Given the description of an element on the screen output the (x, y) to click on. 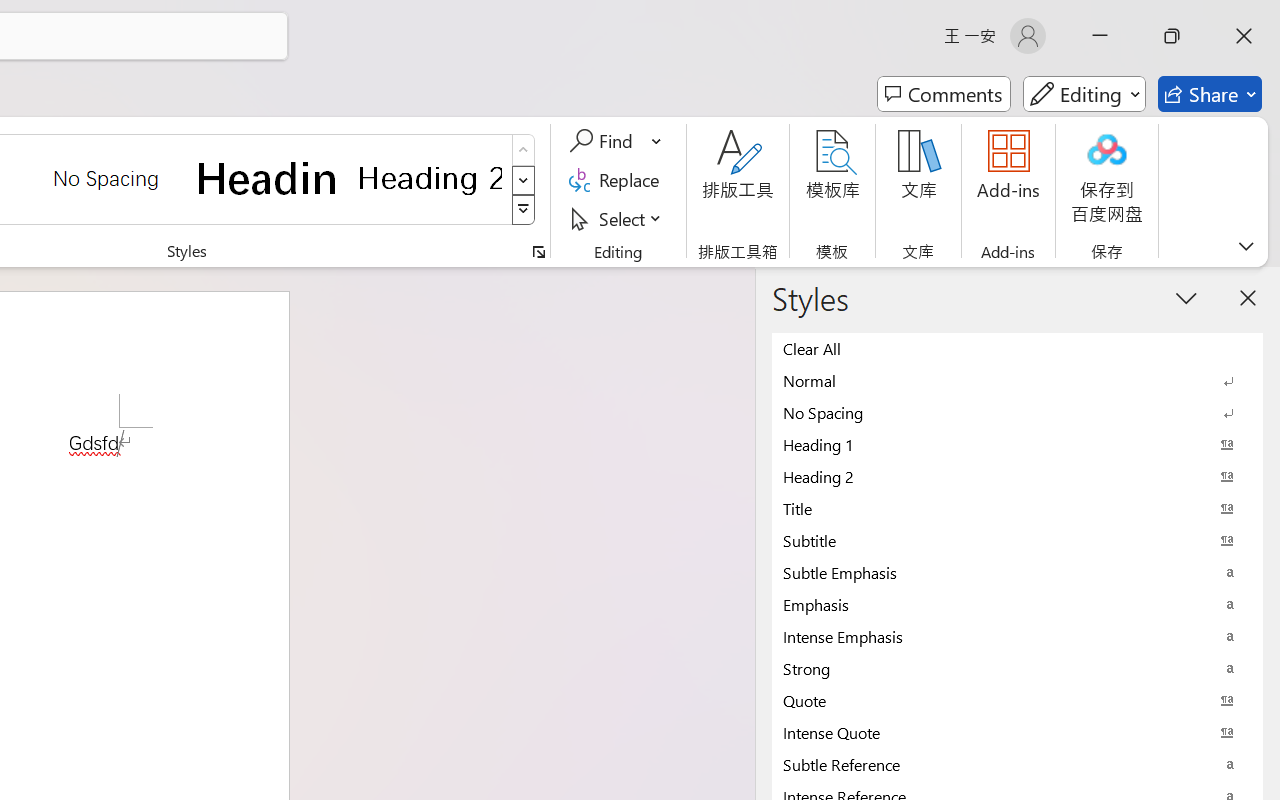
Intense Quote (1017, 732)
Subtle Emphasis (1017, 572)
Row Down (523, 180)
Styles (523, 209)
Subtle Reference (1017, 764)
Clear All (1017, 348)
Emphasis (1017, 604)
Replace... (617, 179)
Subtitle (1017, 540)
